Given the description of an element on the screen output the (x, y) to click on. 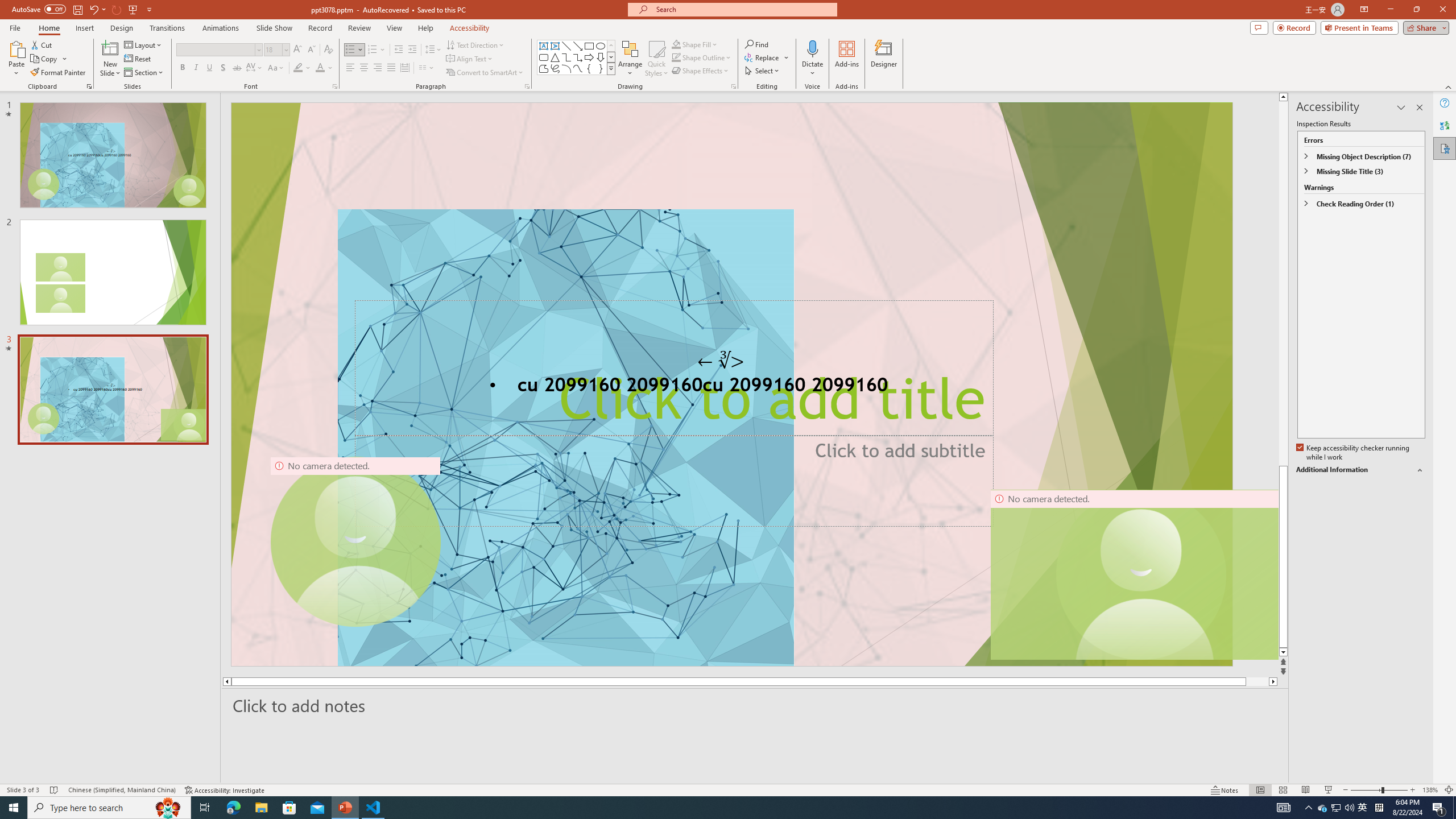
Camera 14, No camera detected. (1134, 574)
